Given the description of an element on the screen output the (x, y) to click on. 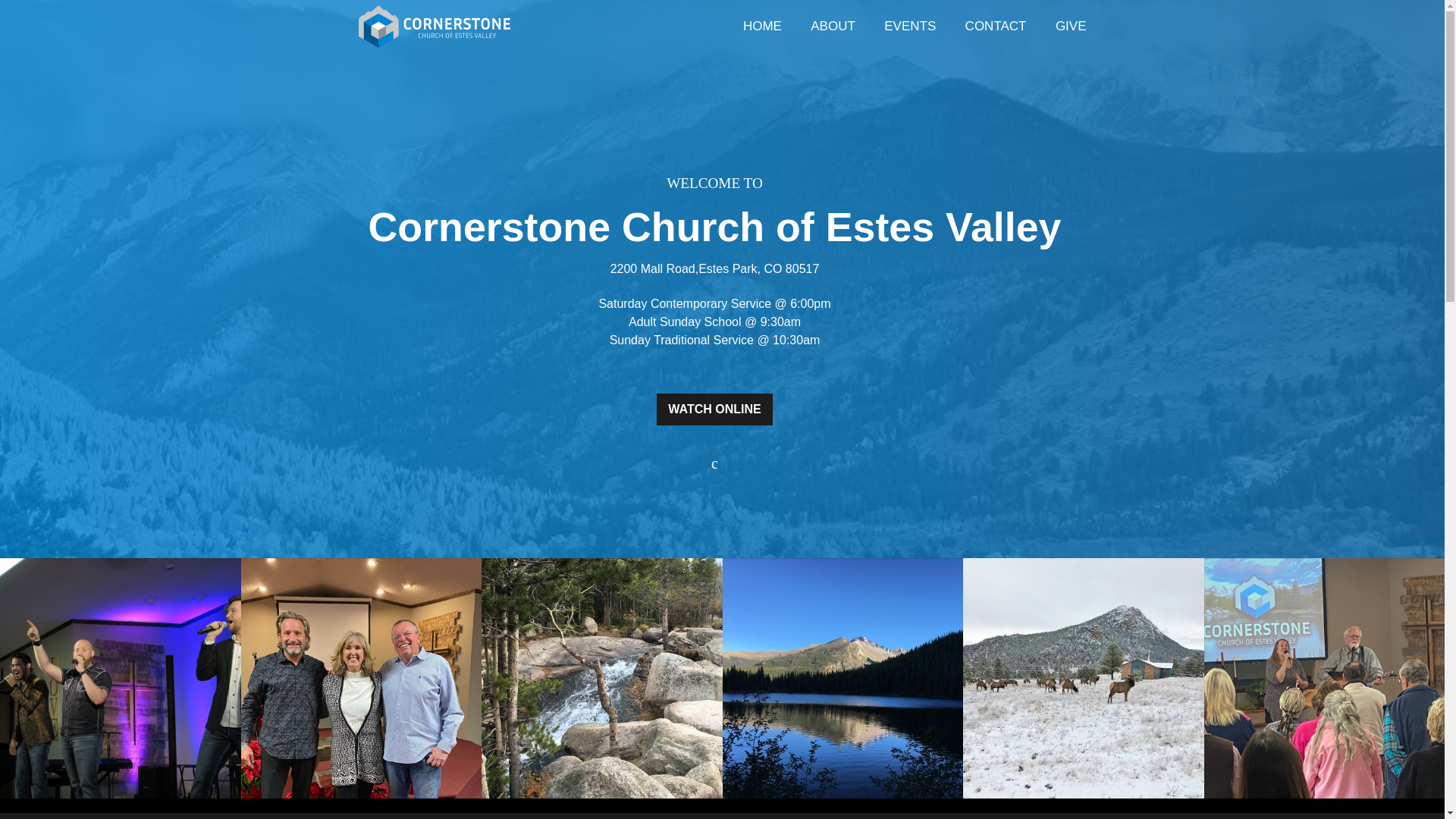
CONTACT (995, 26)
EVENTS (909, 26)
WATCH ONLINE (713, 418)
Img 1870 (601, 678)
GIVE (1070, 26)
Church 12 2021 (1083, 678)
Img 1248 (120, 678)
Img 9113 (361, 678)
HOME (762, 26)
ABOUT (832, 26)
